Given the description of an element on the screen output the (x, y) to click on. 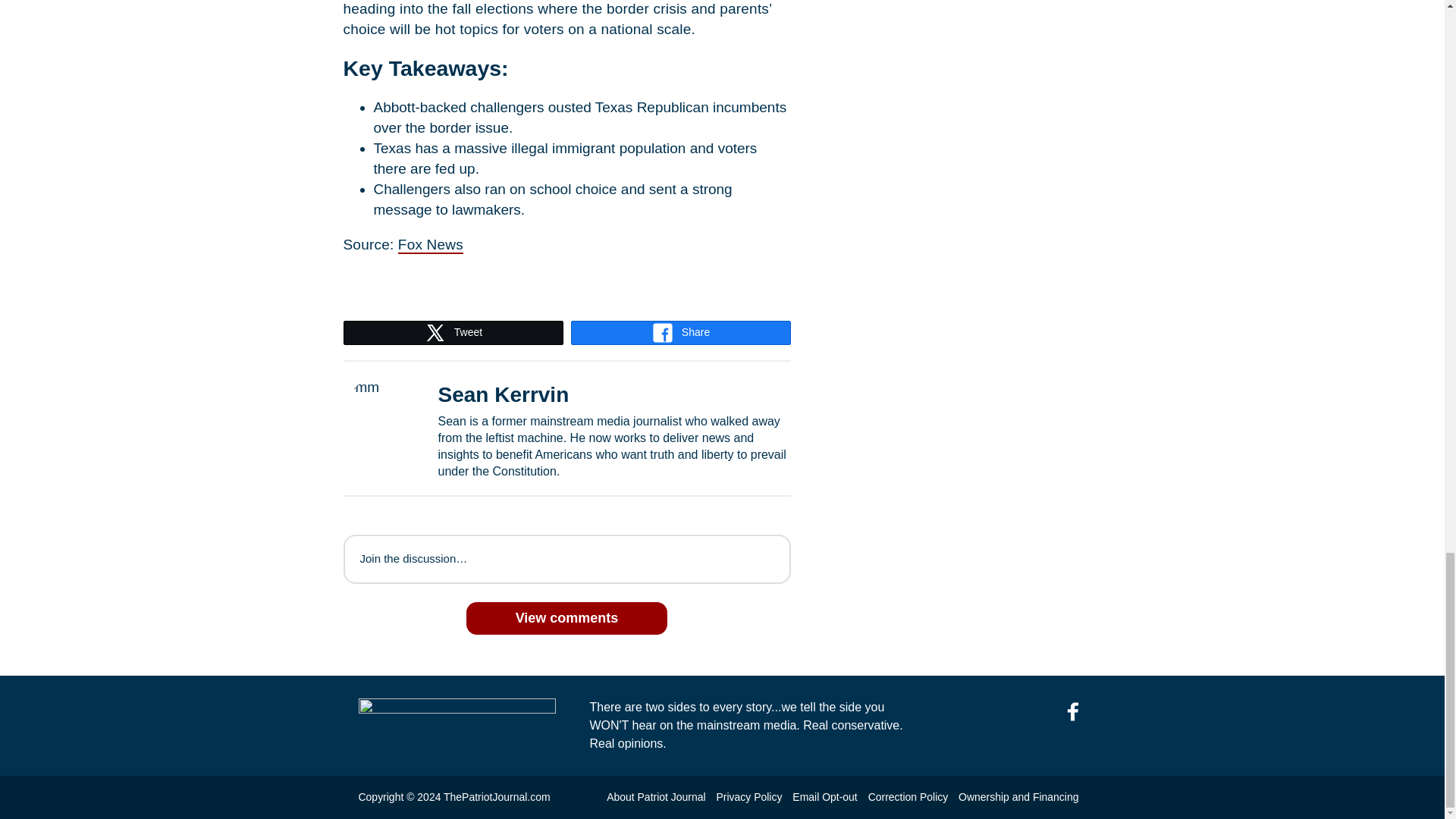
Tweet (452, 332)
Fox News (430, 244)
View comments (566, 618)
Email Opt-out (824, 797)
Ownership and Financing (1018, 797)
About Patriot Journal (655, 797)
Correction Policy (908, 797)
ThePatriotJournal.com (497, 797)
Share (681, 332)
Privacy Policy (748, 797)
